Given the description of an element on the screen output the (x, y) to click on. 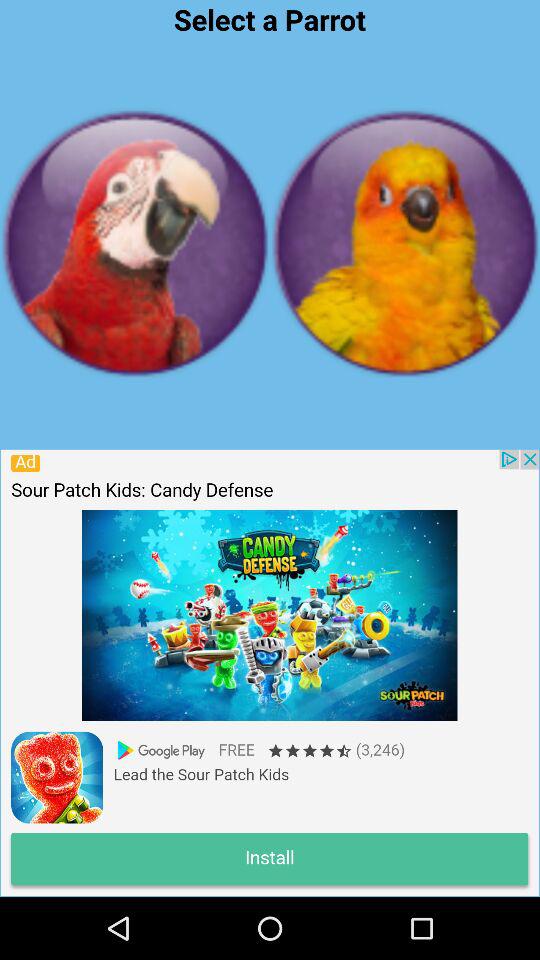
bird pega (135, 243)
